Given the description of an element on the screen output the (x, y) to click on. 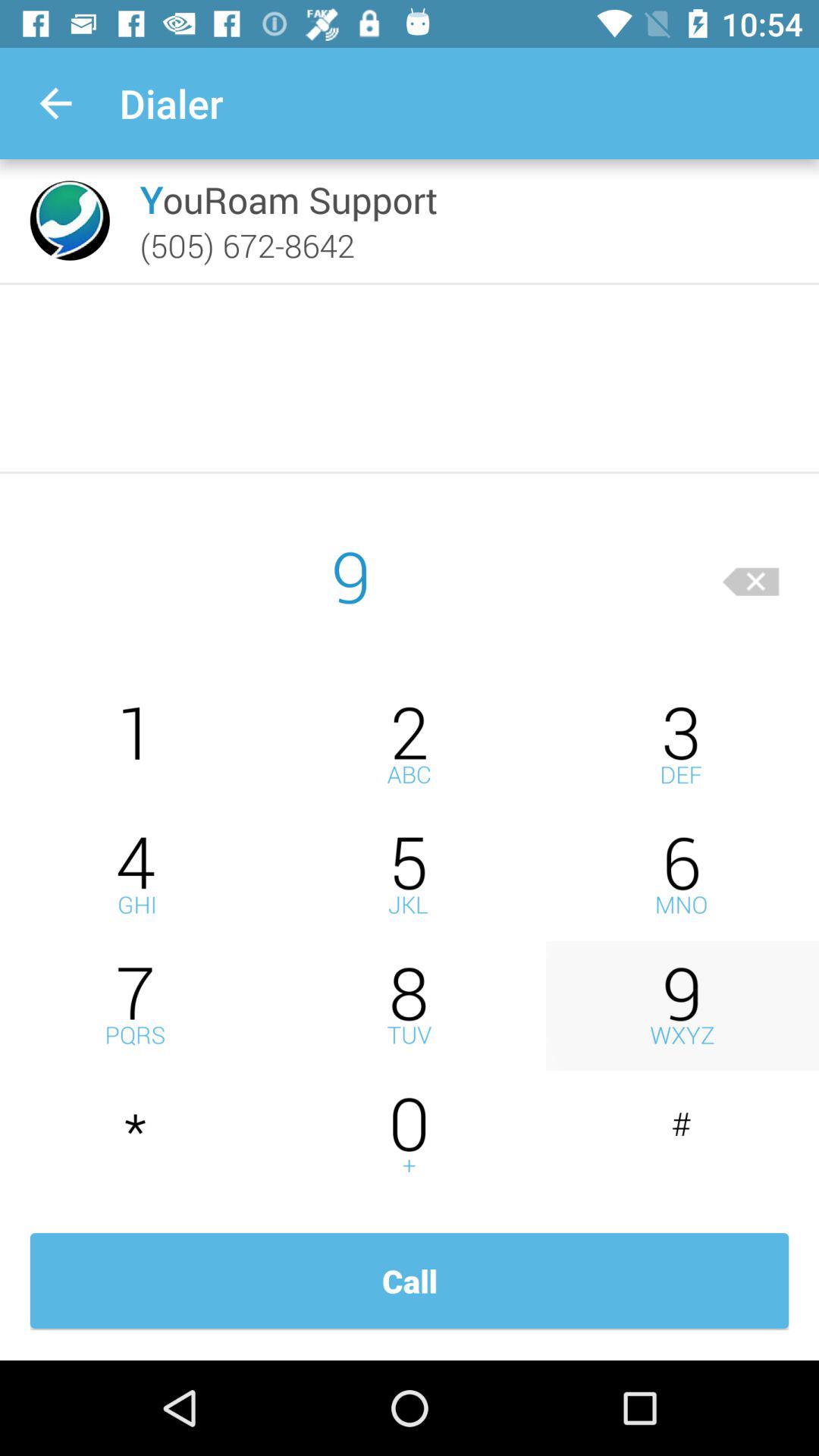
press one (136, 745)
